Given the description of an element on the screen output the (x, y) to click on. 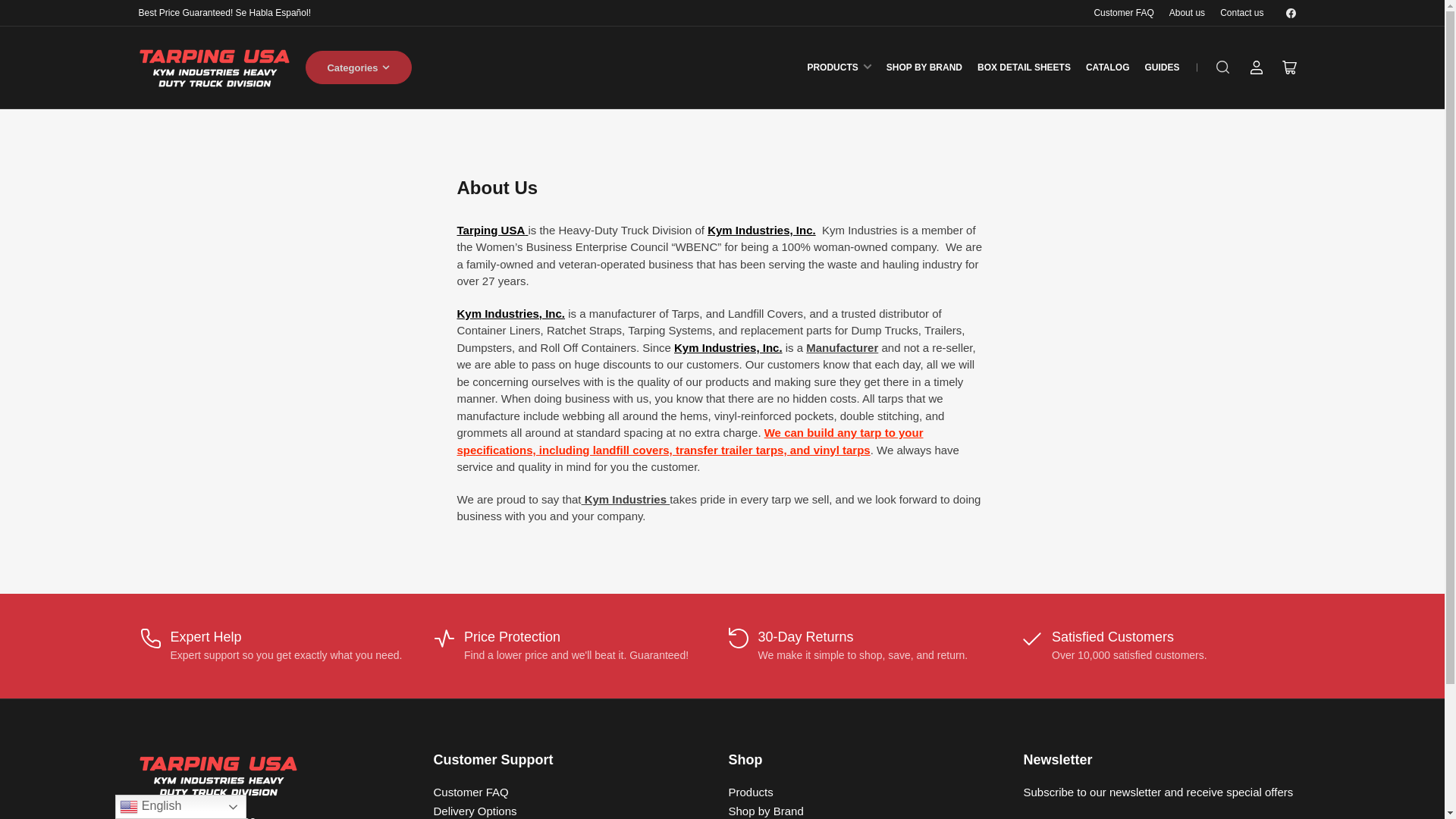
Contact us (1241, 12)
Categories (357, 67)
About us (1187, 12)
Customer FAQ (1123, 12)
Facebook (1290, 14)
